Given the description of an element on the screen output the (x, y) to click on. 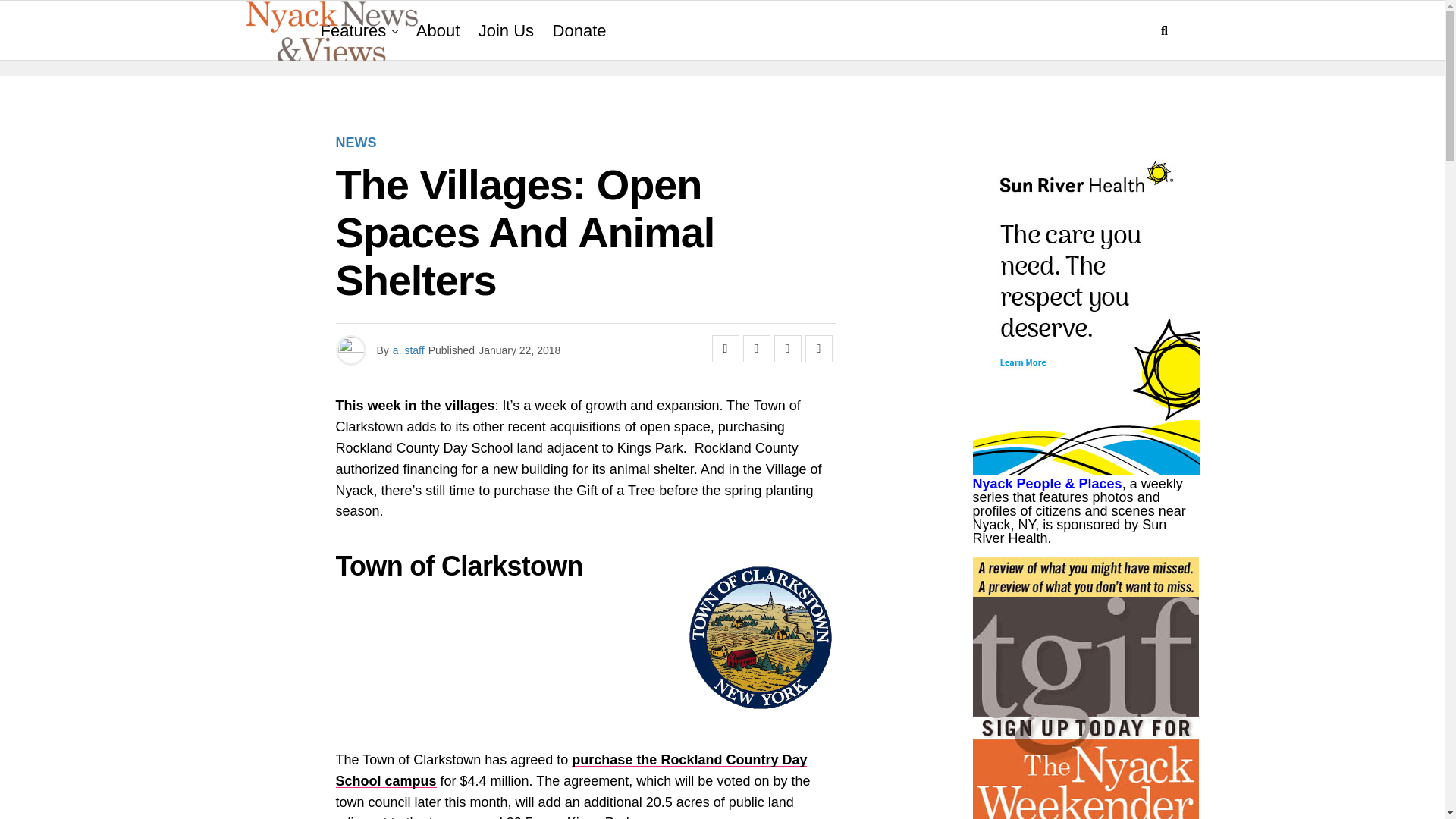
Tweet This Post (756, 348)
Donate (579, 30)
About (438, 30)
Share on Facebook (724, 348)
NEWS (354, 142)
a. staff (409, 349)
Posts by a. staff (409, 349)
Features (353, 30)
purchase the Rockland Country Day School campus (570, 770)
Join Us (505, 30)
